Given the description of an element on the screen output the (x, y) to click on. 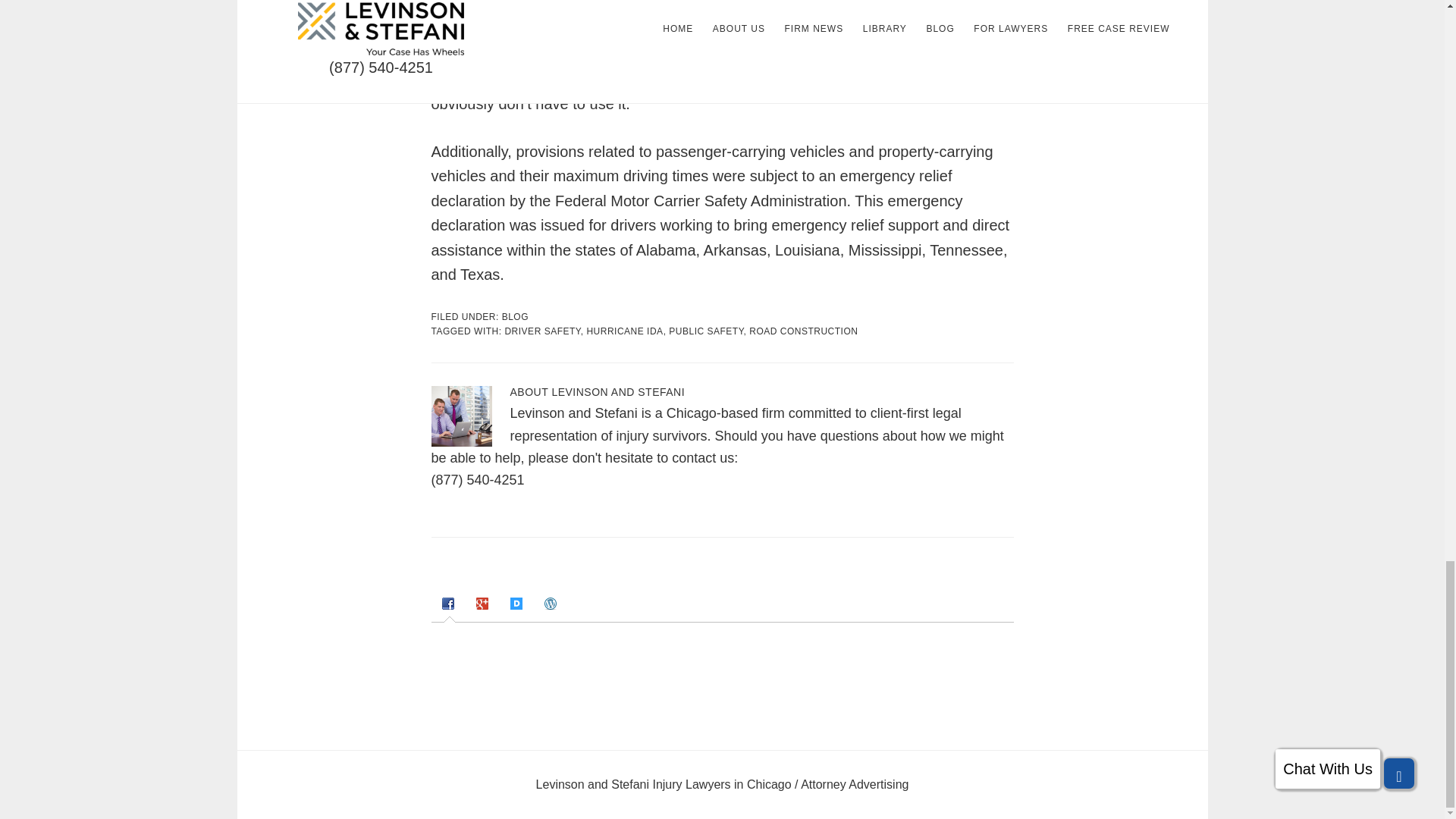
DRIVER SAFETY (541, 330)
ROAD CONSTRUCTION (803, 330)
PUBLIC SAFETY (705, 330)
BLOG (515, 317)
HURRICANE IDA (624, 330)
